Given the description of an element on the screen output the (x, y) to click on. 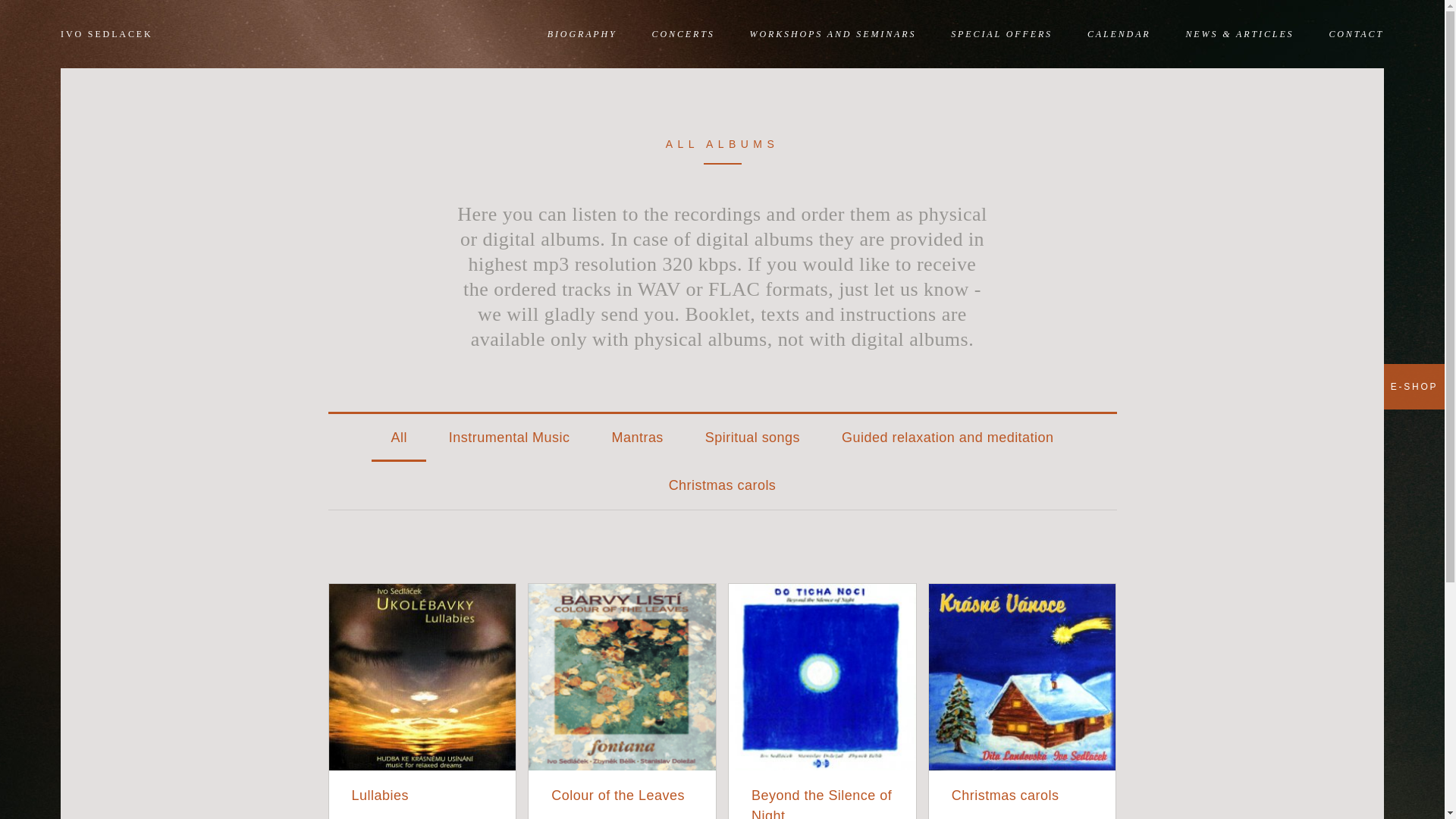
SPECIAL OFFERS (1001, 33)
CALENDAR (1119, 33)
WORKSHOPS AND SEMINARS (833, 33)
BIOGRAPHY (582, 33)
IVO SEDLACEK (106, 33)
Spiritual songs (751, 437)
Instrumental Music (509, 437)
CONCERTS (683, 33)
Mantras (636, 437)
Guided relaxation and meditation (947, 437)
Christmas carols (721, 485)
All (398, 437)
